Given the description of an element on the screen output the (x, y) to click on. 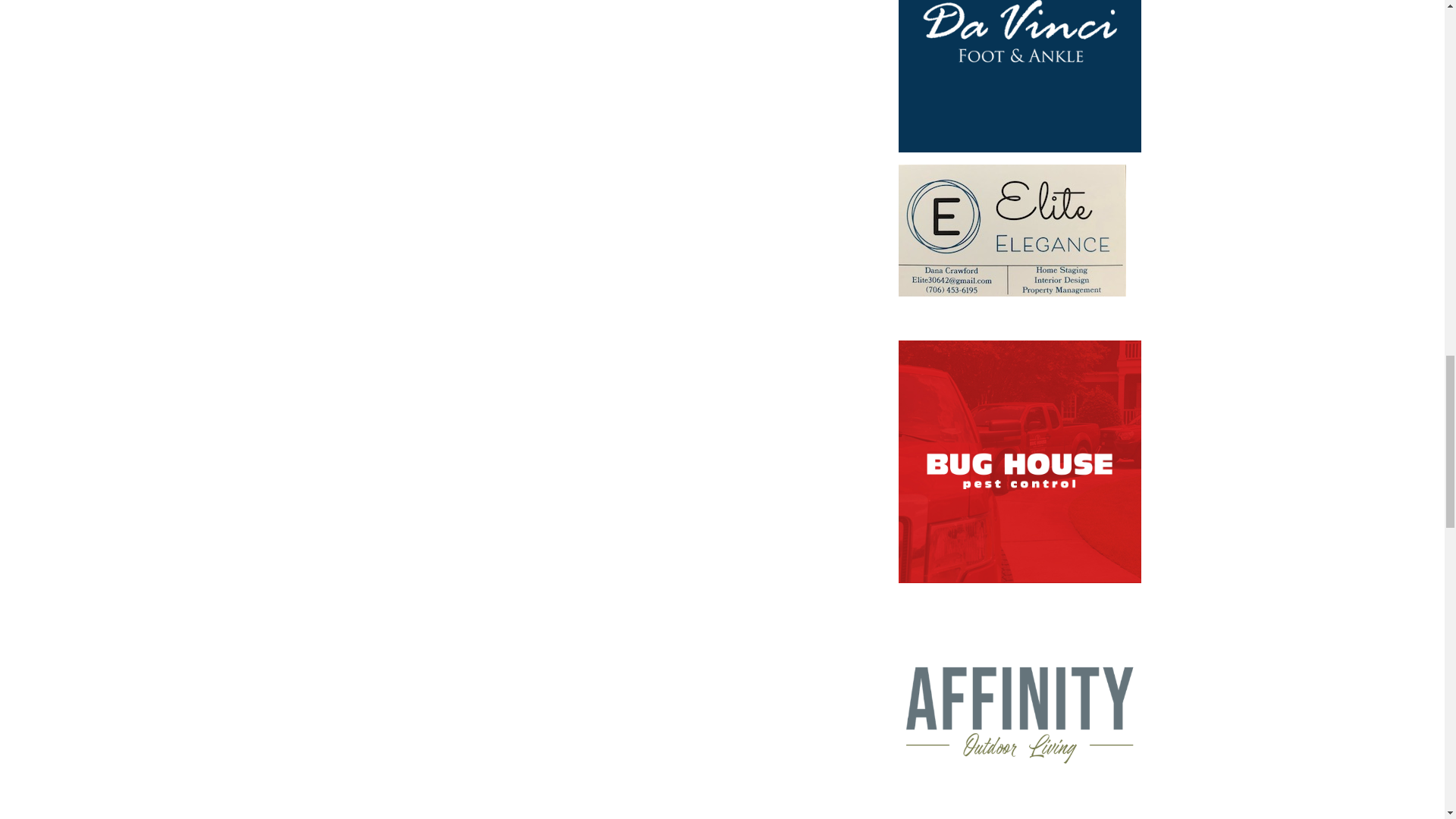
Affinity (1019, 707)
Elite-Elegance (1011, 230)
Bughouse (1019, 461)
